Given the description of an element on the screen output the (x, y) to click on. 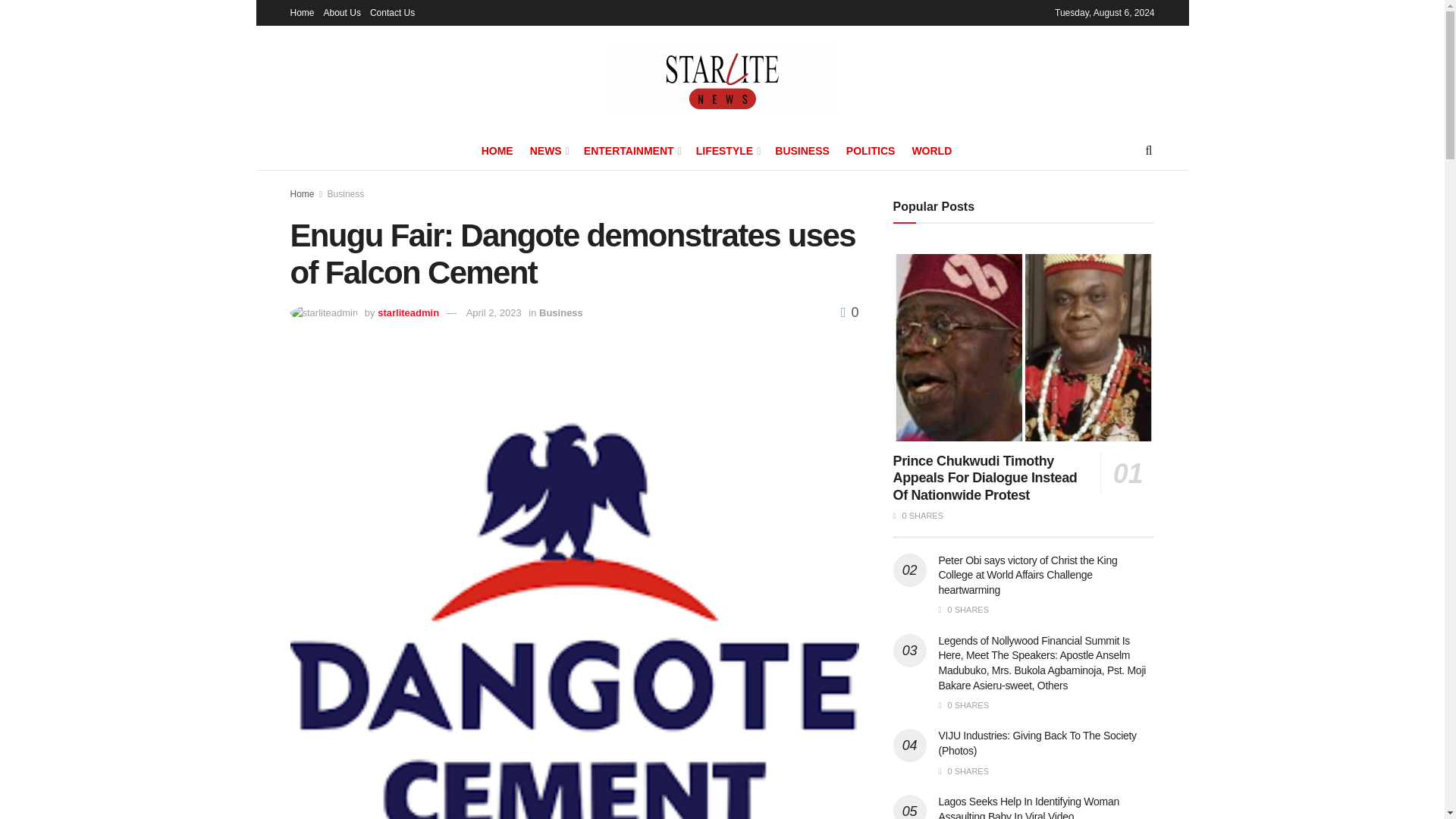
Home (301, 12)
About Us (342, 12)
ENTERTAINMENT (631, 150)
HOME (497, 150)
NEWS (548, 150)
Contact Us (391, 12)
LIFESTYLE (726, 150)
